Given the description of an element on the screen output the (x, y) to click on. 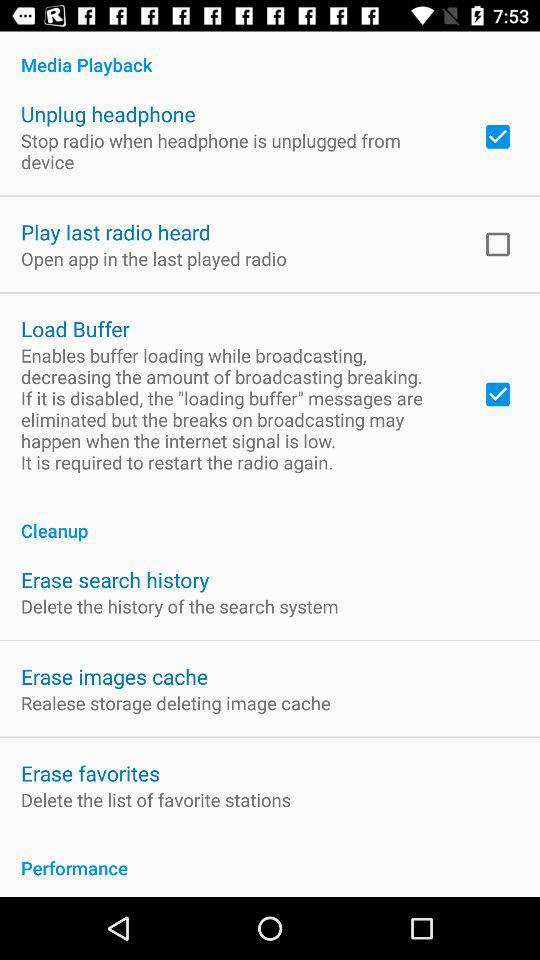
choose item below the realese storage deleting (90, 772)
